Given the description of an element on the screen output the (x, y) to click on. 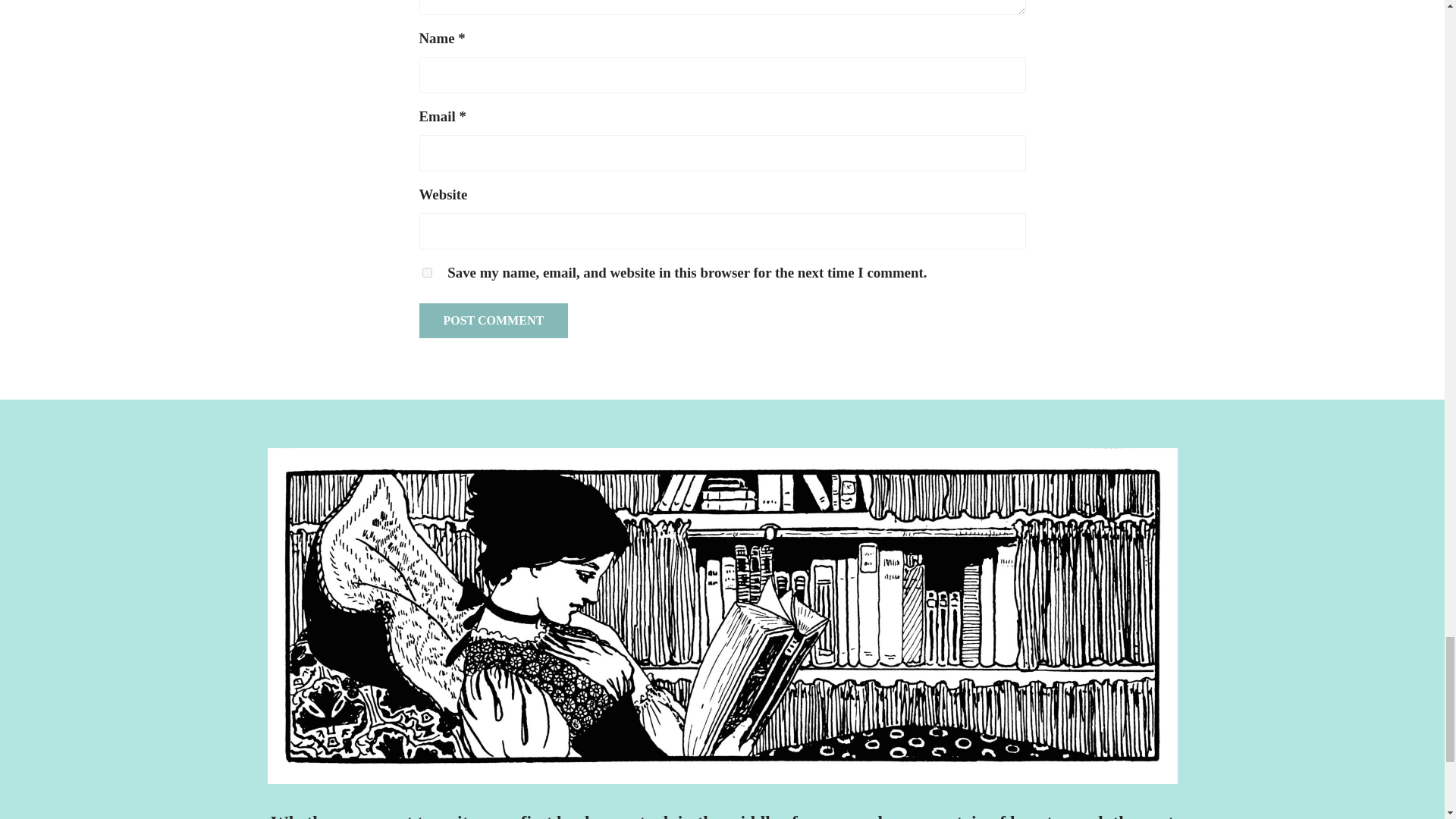
Post Comment (493, 320)
Post Comment (493, 320)
yes (426, 272)
